Given the description of an element on the screen output the (x, y) to click on. 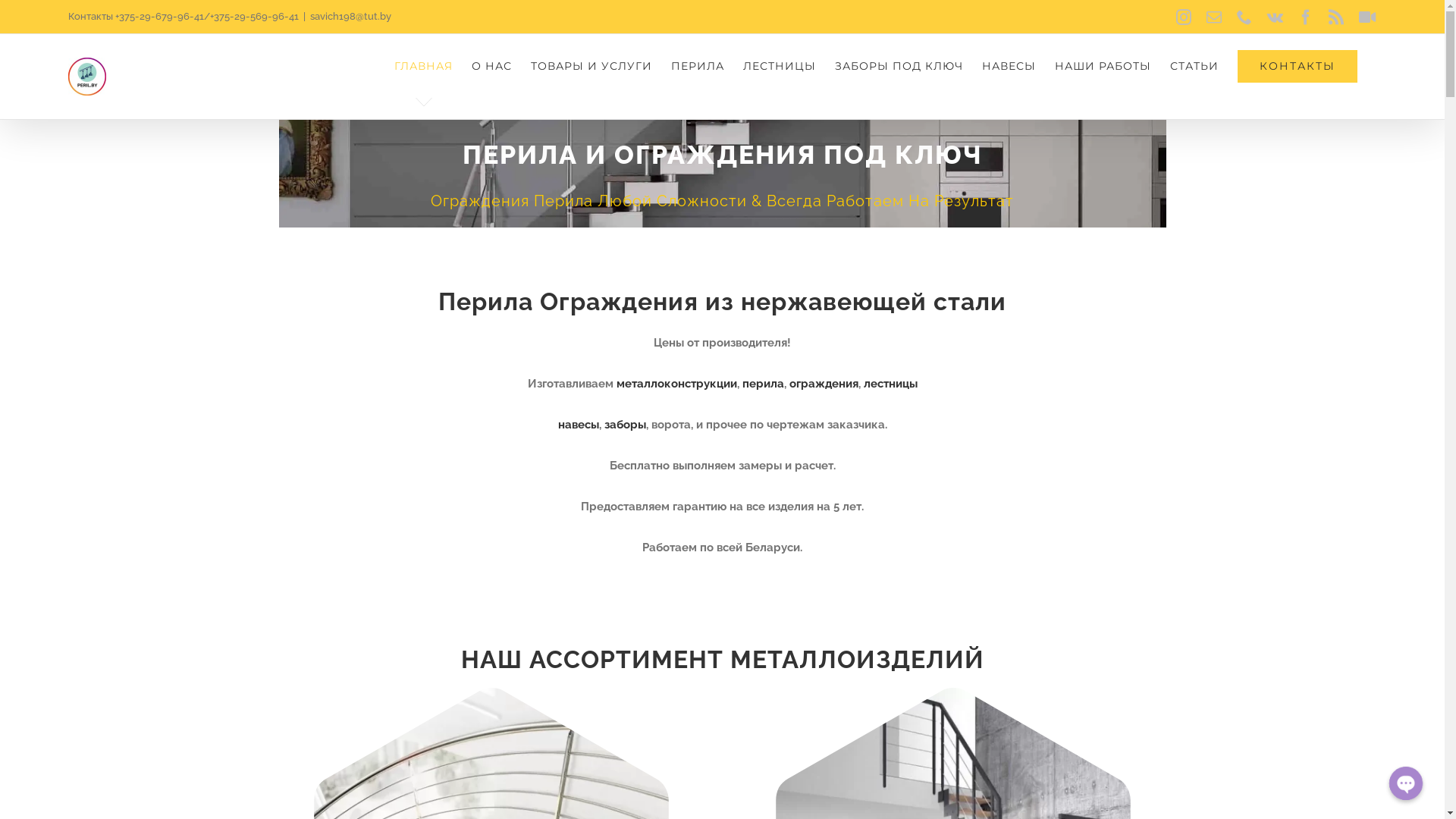
Email Element type: text (1213, 17)
Instagram Element type: text (1183, 17)
Vk Element type: text (1275, 17)
savich198@tut.by Element type: text (350, 15)
Facebook Element type: text (1305, 17)
YouTube Element type: text (1367, 17)
Phone Element type: text (1244, 17)
Rss Element type: text (1335, 17)
